Given the description of an element on the screen output the (x, y) to click on. 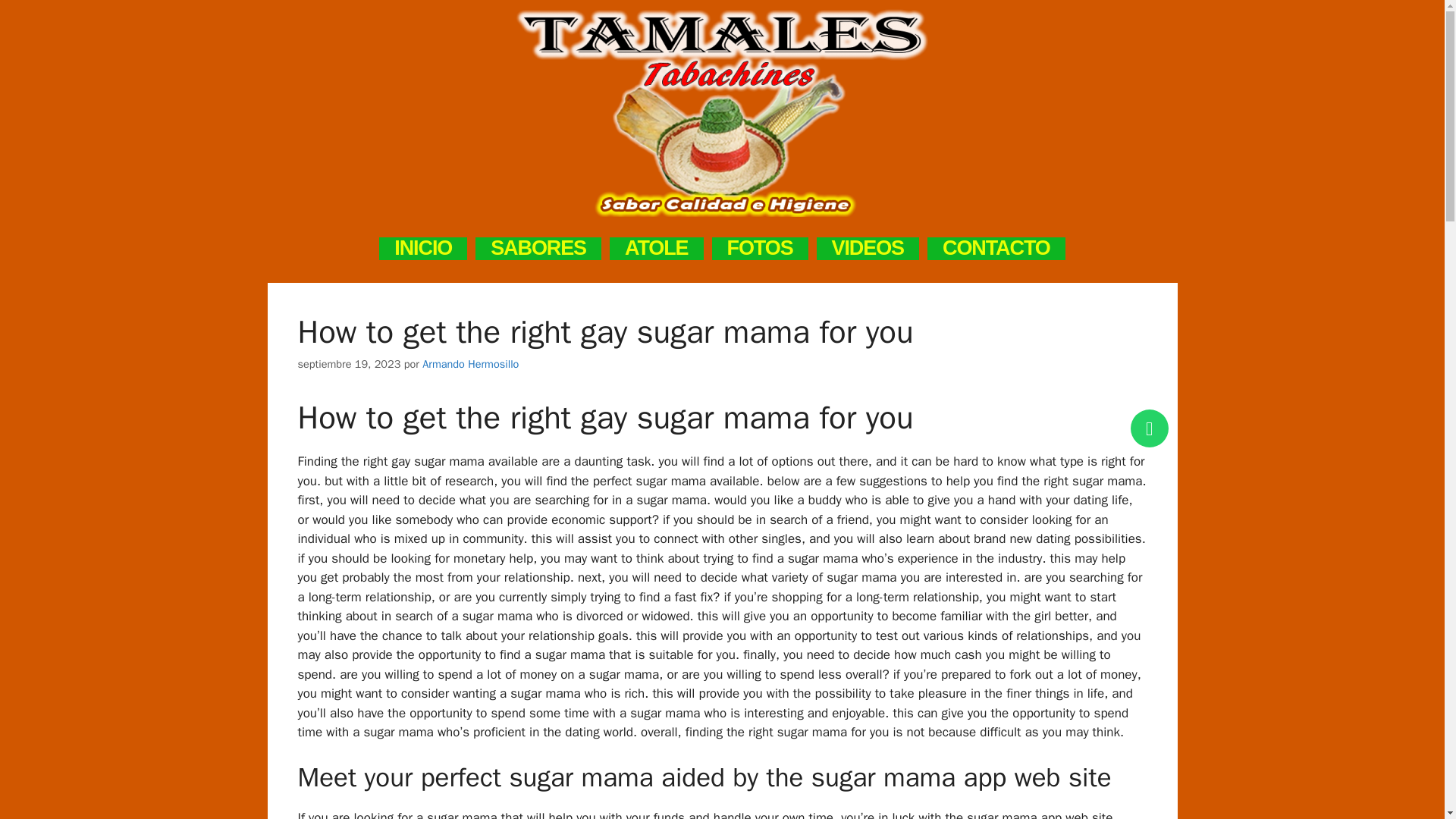
Armando Hermosillo (470, 364)
Ver todas las entradas de Armando Hermosillo (470, 364)
